Given the description of an element on the screen output the (x, y) to click on. 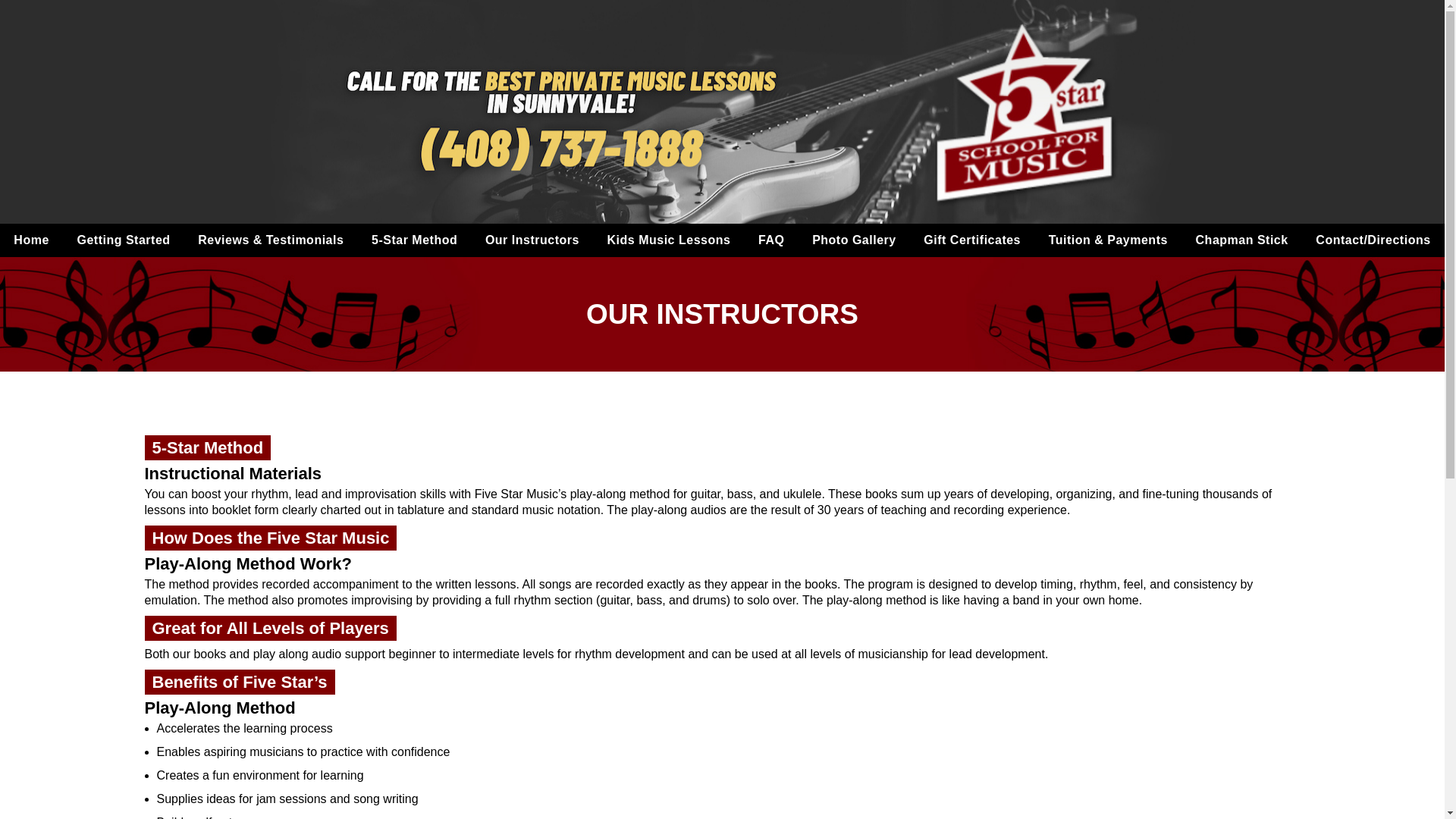
Chapman Stick (1242, 240)
Kids Music Lessons (668, 240)
Photo Gallery (853, 240)
Home (30, 240)
5-Star Method (413, 240)
FAQ (770, 240)
Our Instructors (532, 240)
Gift Certificates (972, 240)
Getting Started (122, 240)
